Given the description of an element on the screen output the (x, y) to click on. 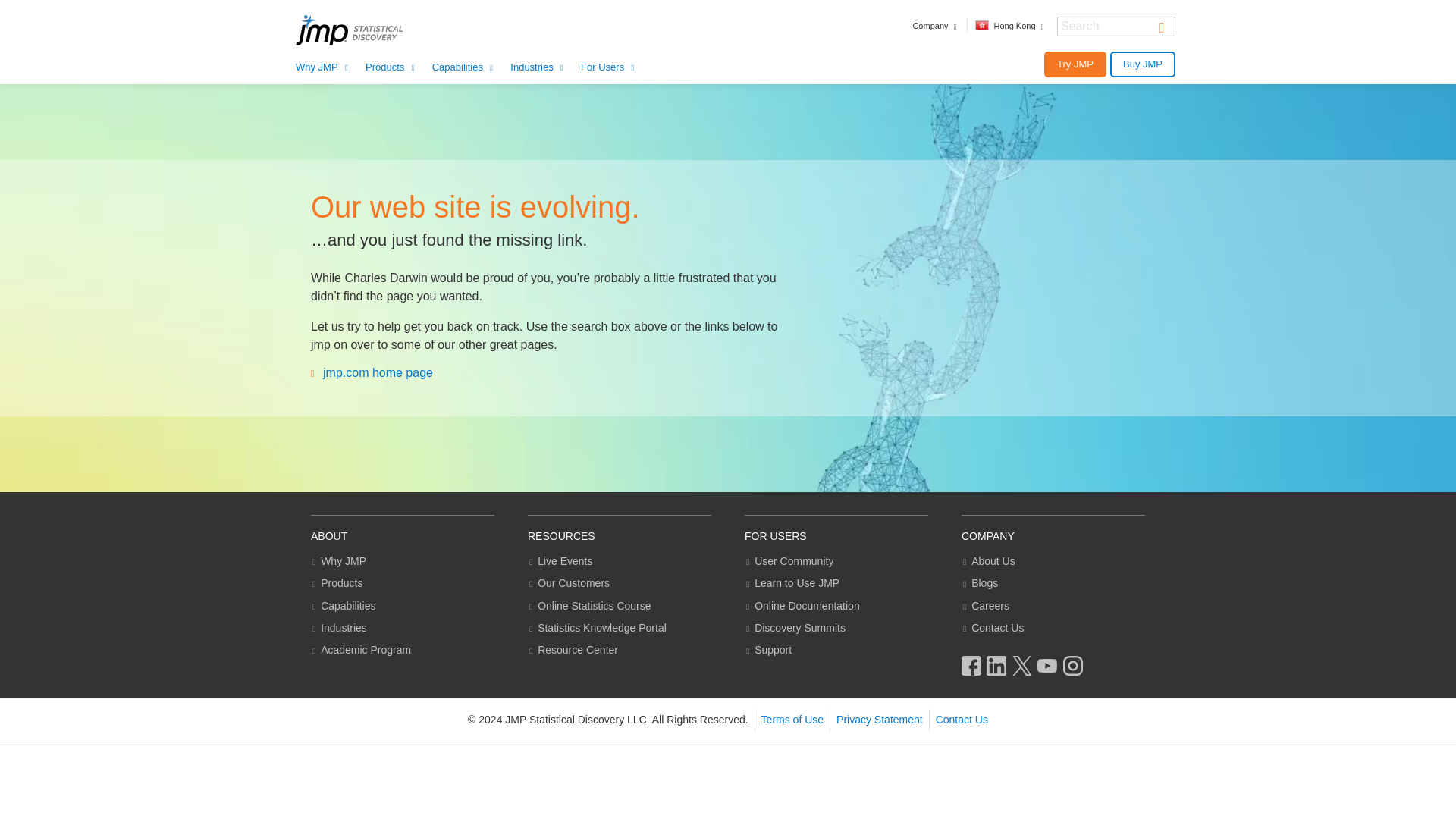
Company (935, 25)
Hong Kong (1010, 25)
Search (1162, 25)
Search (1162, 25)
JMP Statistical Discovery (368, 30)
